Given the description of an element on the screen output the (x, y) to click on. 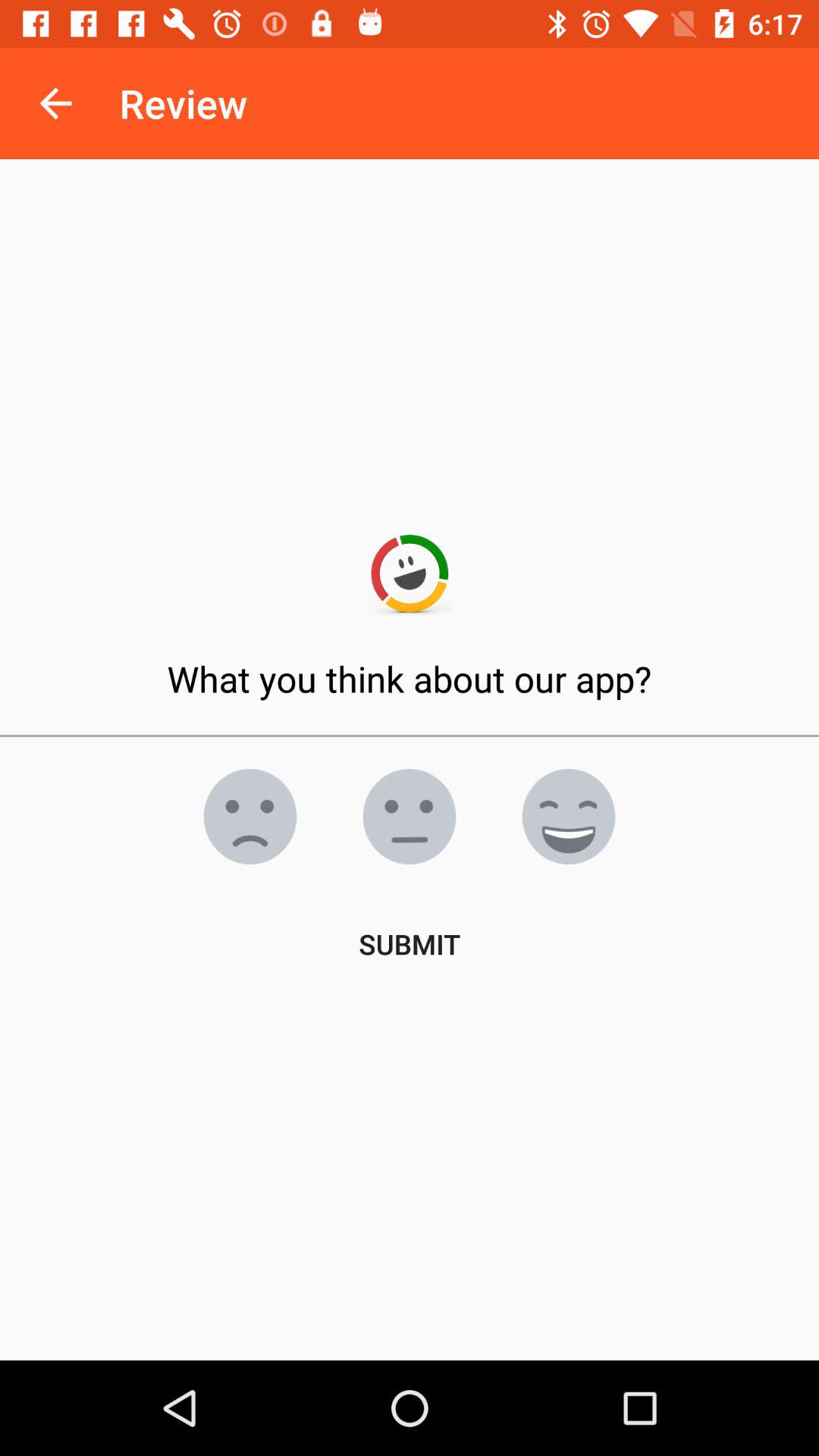
click the item on the right (568, 816)
